Given the description of an element on the screen output the (x, y) to click on. 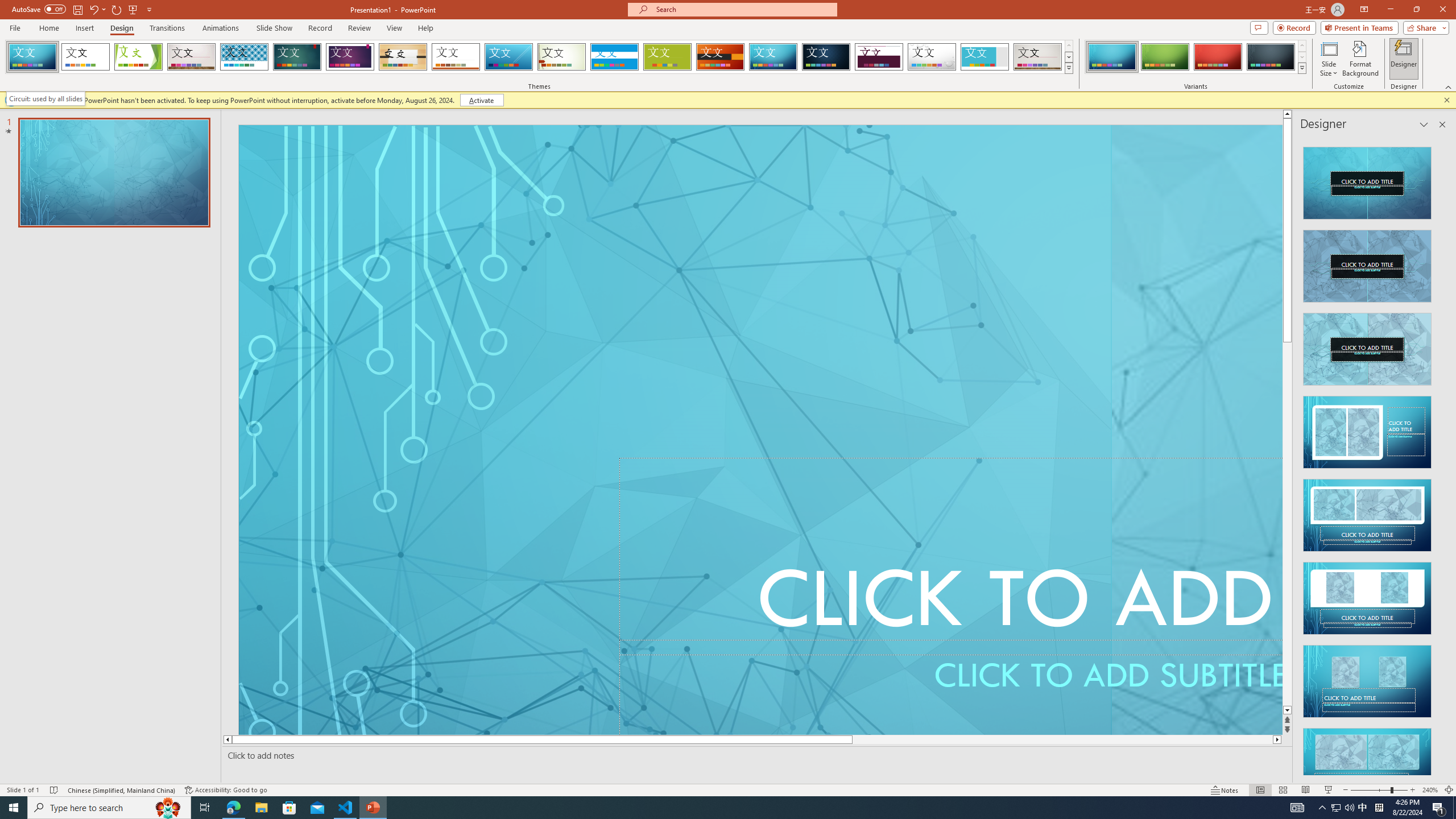
Banded (614, 56)
Gallery (1037, 56)
Dividend (879, 56)
Frame (984, 56)
Circuit (772, 56)
